Given the description of an element on the screen output the (x, y) to click on. 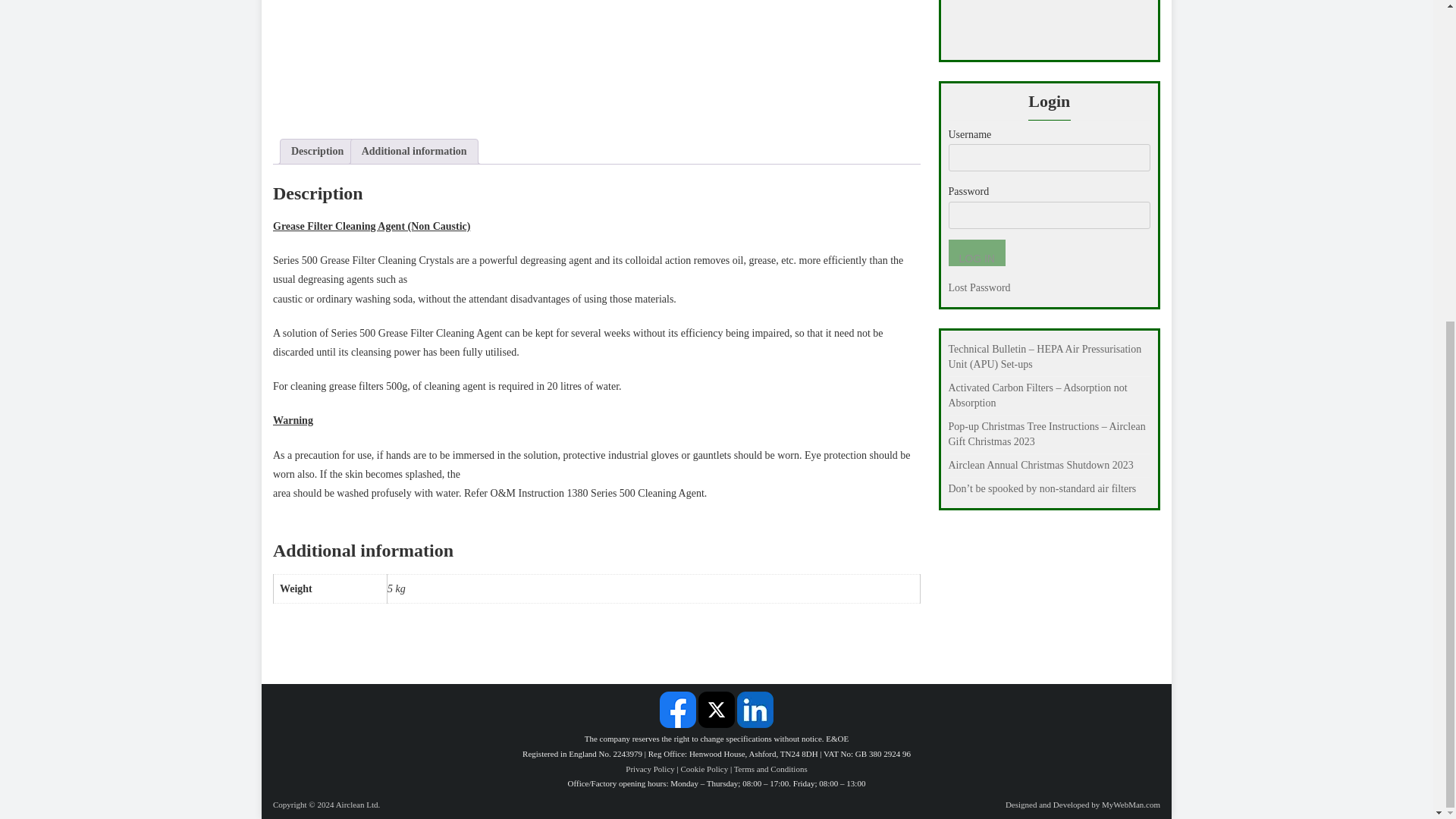
Log In (975, 252)
